Given the description of an element on the screen output the (x, y) to click on. 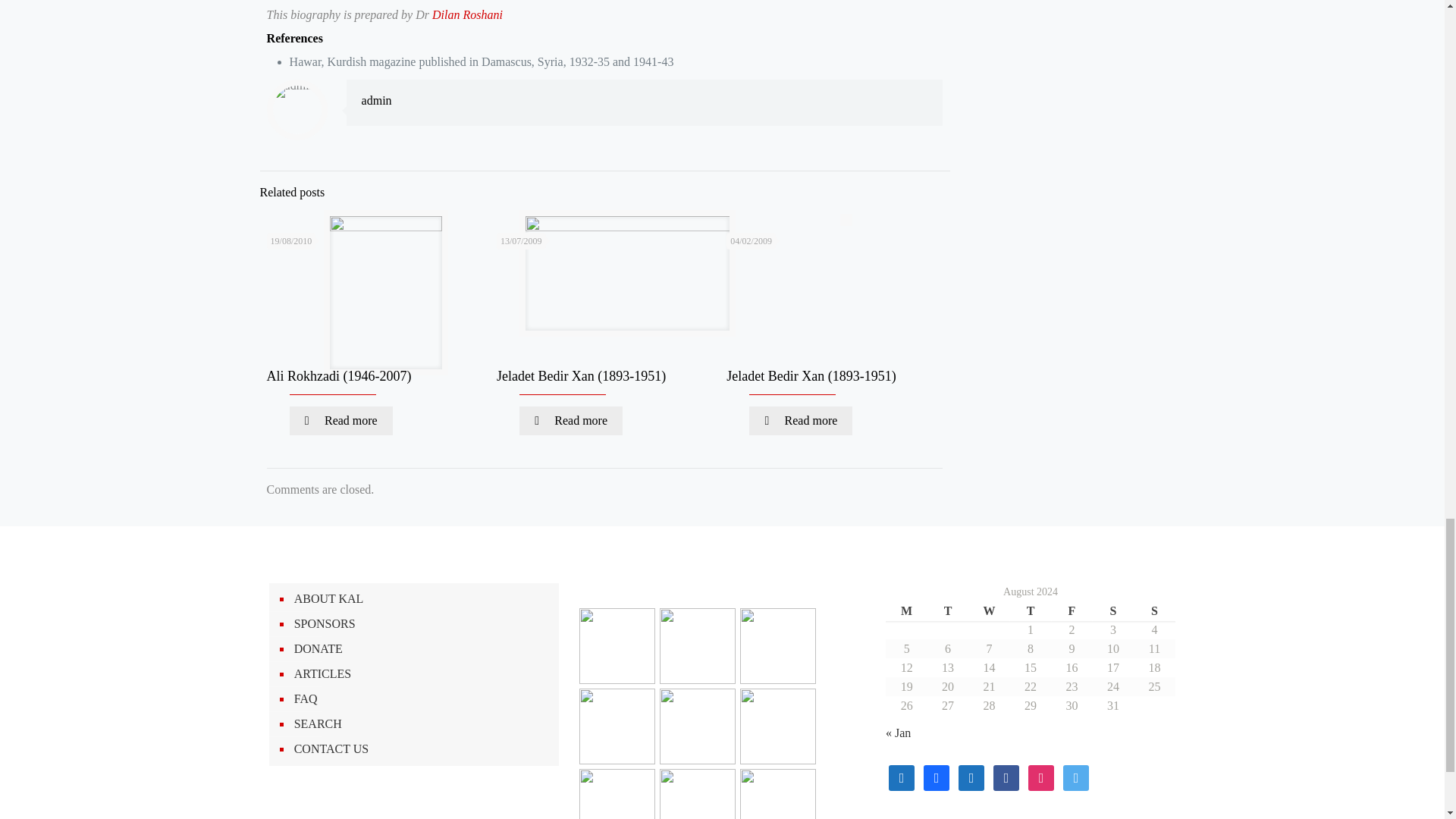
Monday (905, 610)
Tuesday (947, 610)
Wednesday (988, 610)
